Given the description of an element on the screen output the (x, y) to click on. 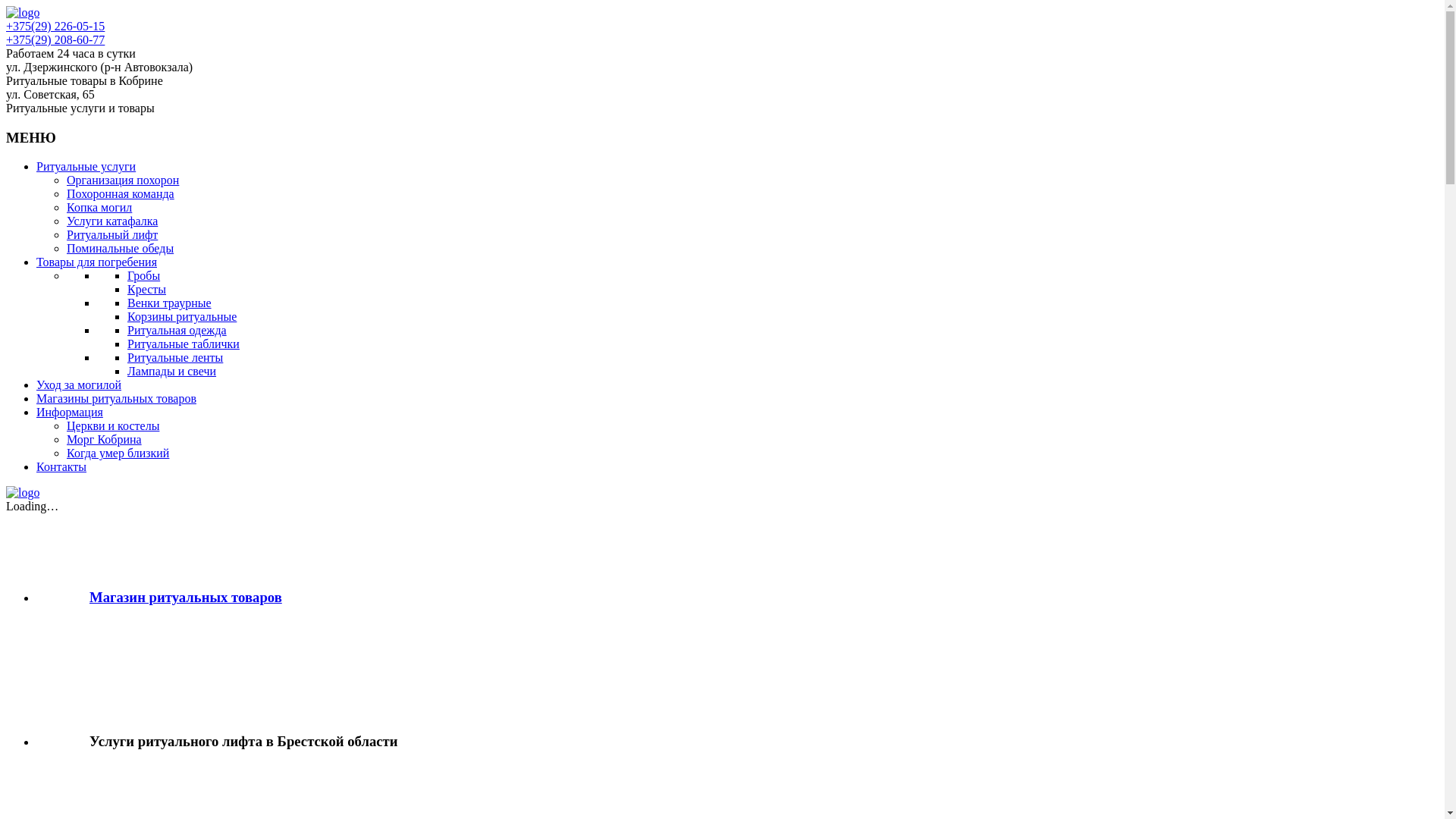
+375(29) 226-05-15 Element type: text (55, 25)
+375(29) 208-60-77 Element type: text (55, 39)
